Given the description of an element on the screen output the (x, y) to click on. 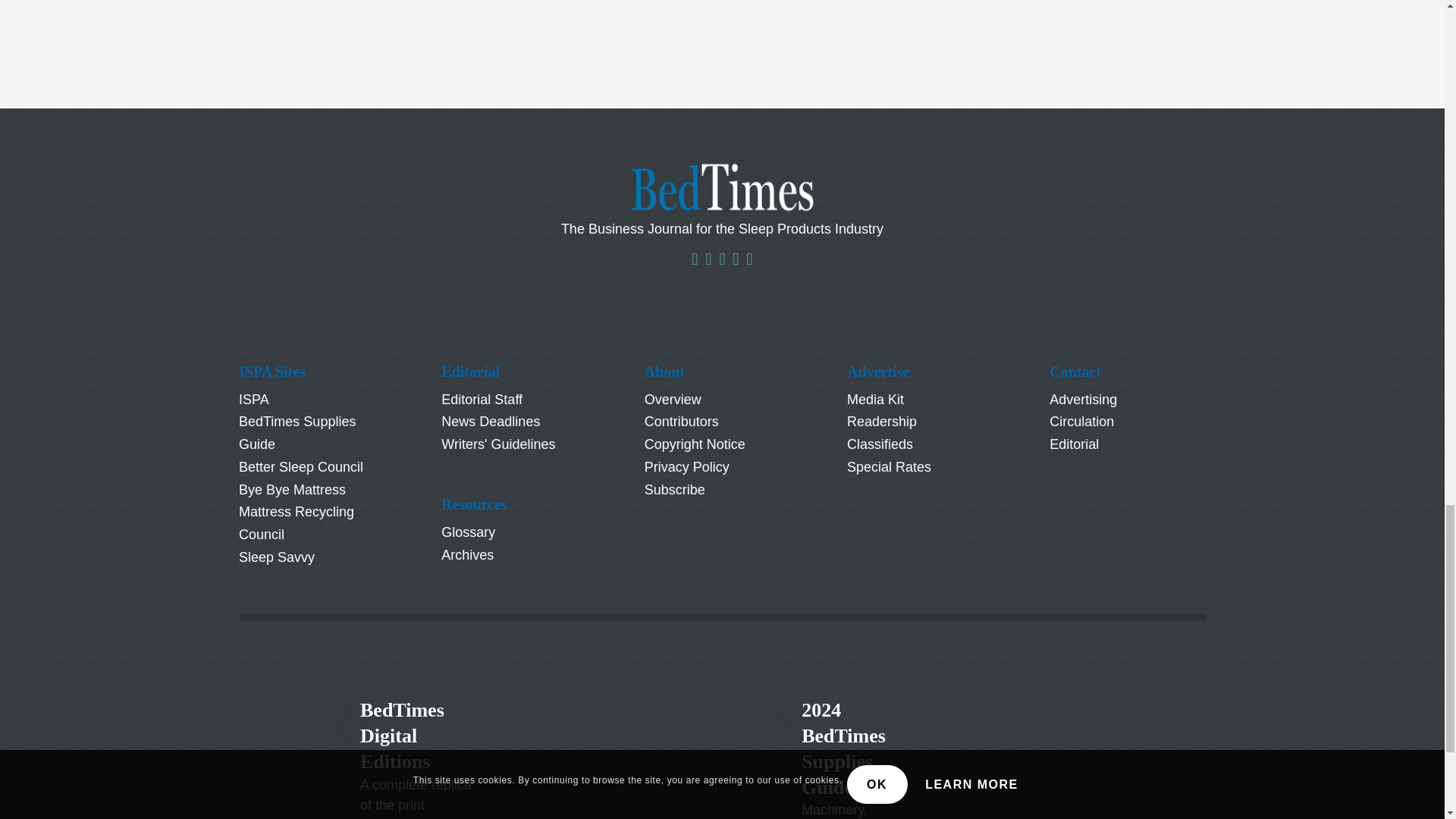
3rd party ad content (1091, 758)
3rd party ad content (722, 35)
